Given the description of an element on the screen output the (x, y) to click on. 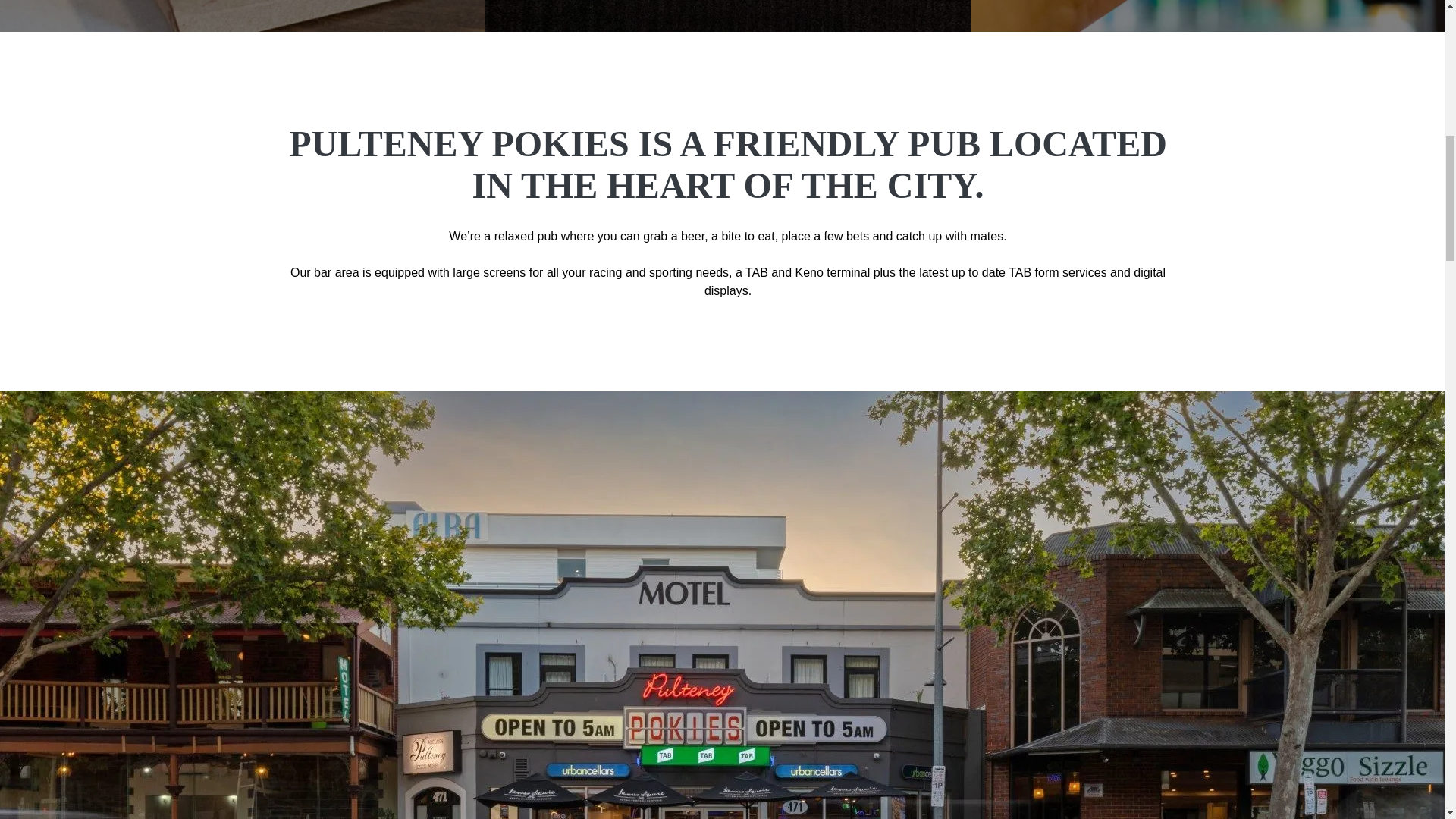
DRINK (727, 15)
PLAY (1213, 15)
EAT (242, 15)
